Given the description of an element on the screen output the (x, y) to click on. 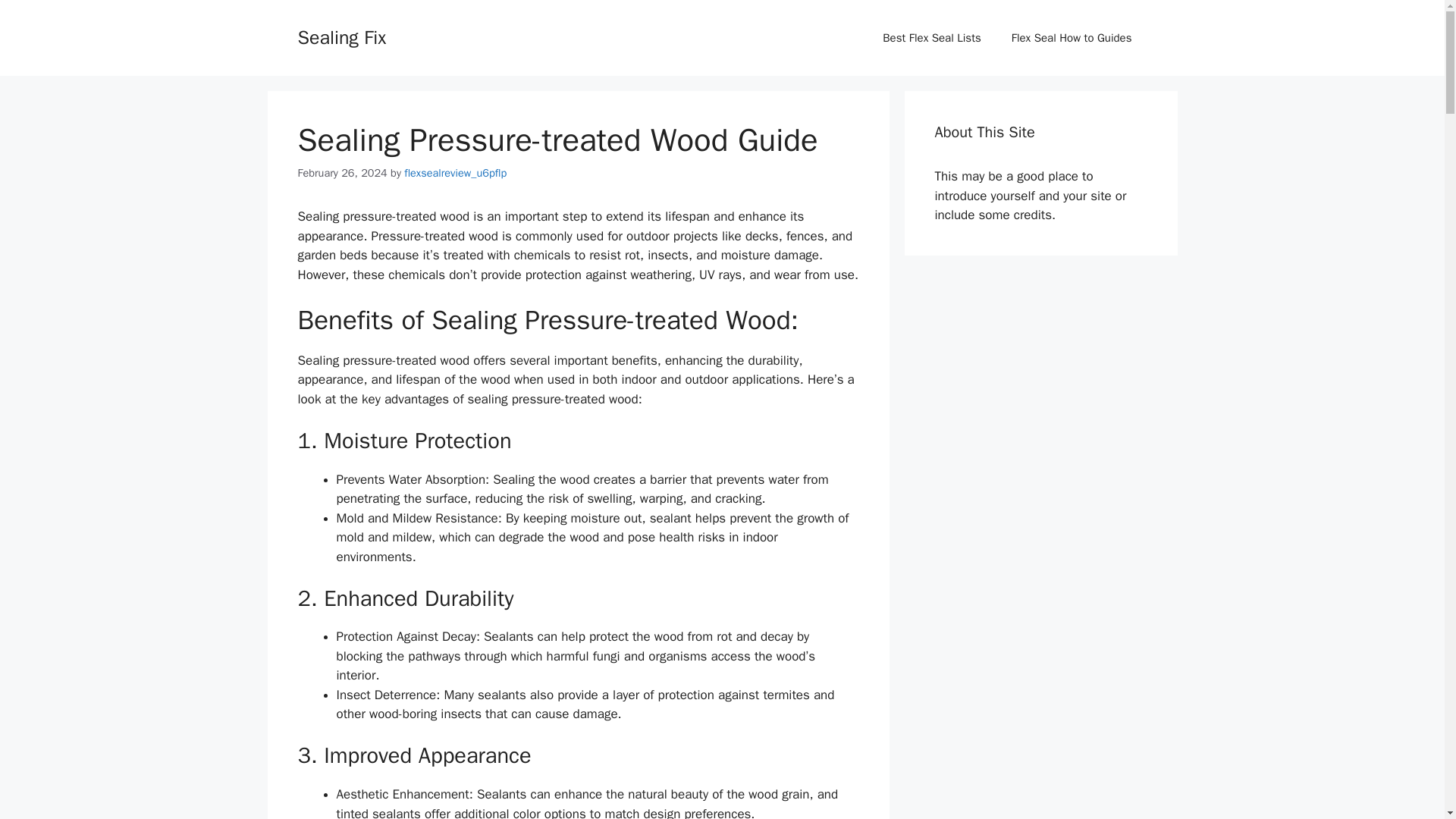
Flex Seal How to Guides (1071, 37)
Best Flex Seal Lists (931, 37)
Sealing Fix (341, 37)
